Given the description of an element on the screen output the (x, y) to click on. 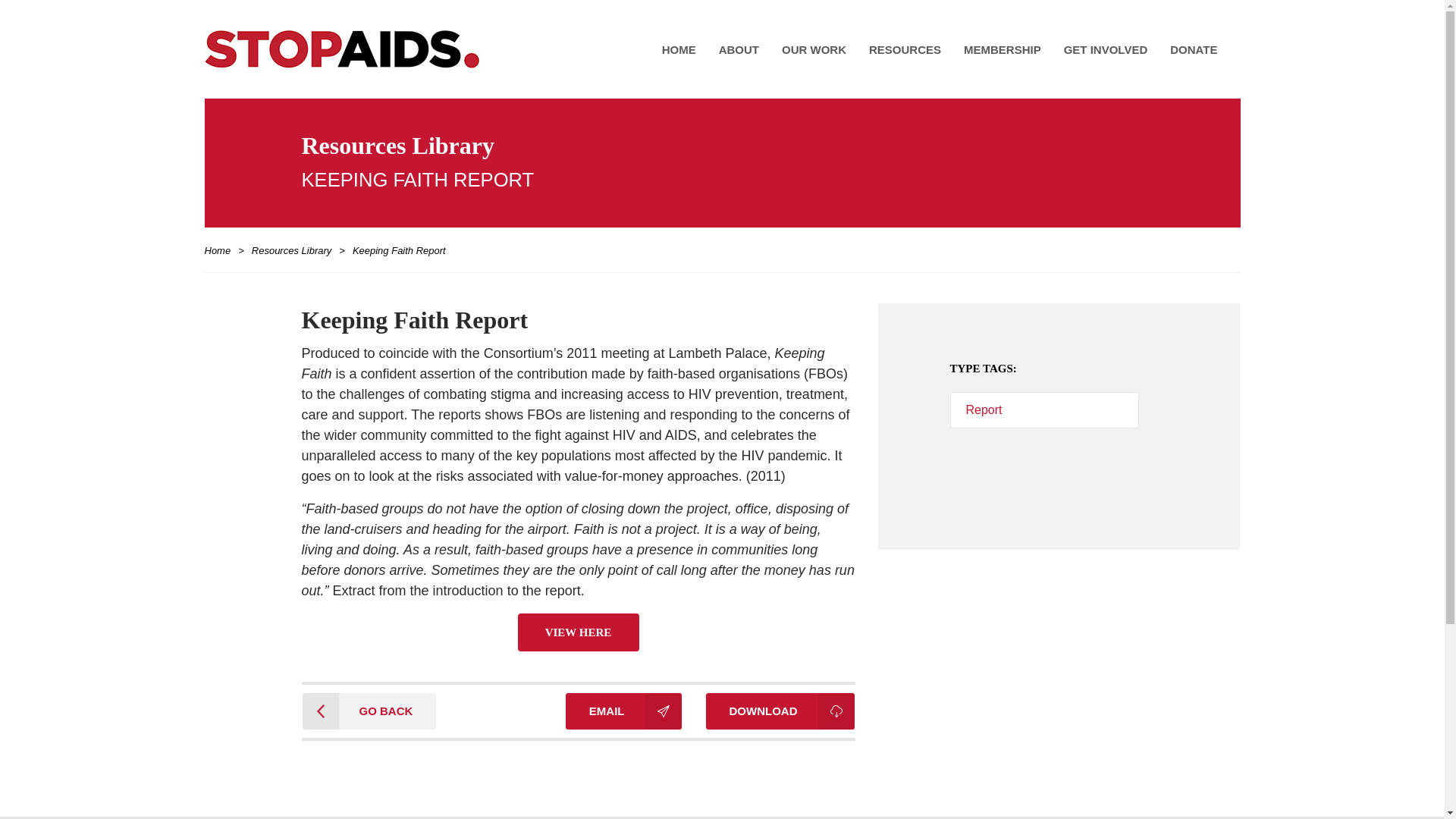
Report (1043, 410)
OUR WORK (813, 49)
GO BACK (369, 711)
VIEW HERE (577, 632)
HOME (678, 49)
RESOURCES (904, 49)
Resources Library (291, 250)
Home (221, 250)
GET INVOLVED (1105, 49)
DONATE (1193, 49)
MEMBERSHIP (1002, 49)
DOWNLOAD (780, 711)
EMAIL (623, 711)
ABOUT (738, 49)
